Given the description of an element on the screen output the (x, y) to click on. 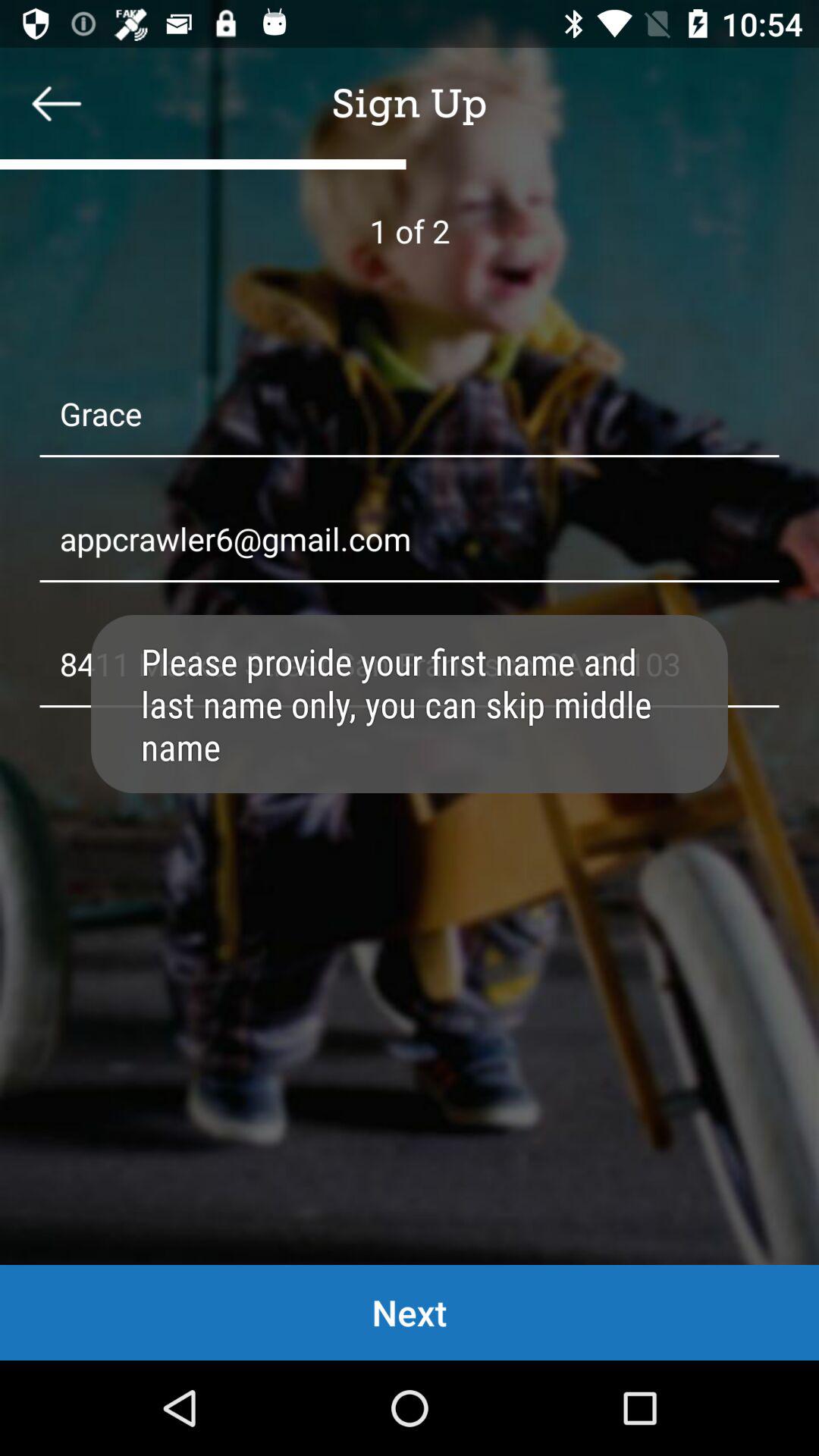
backword option (56, 103)
